Given the description of an element on the screen output the (x, y) to click on. 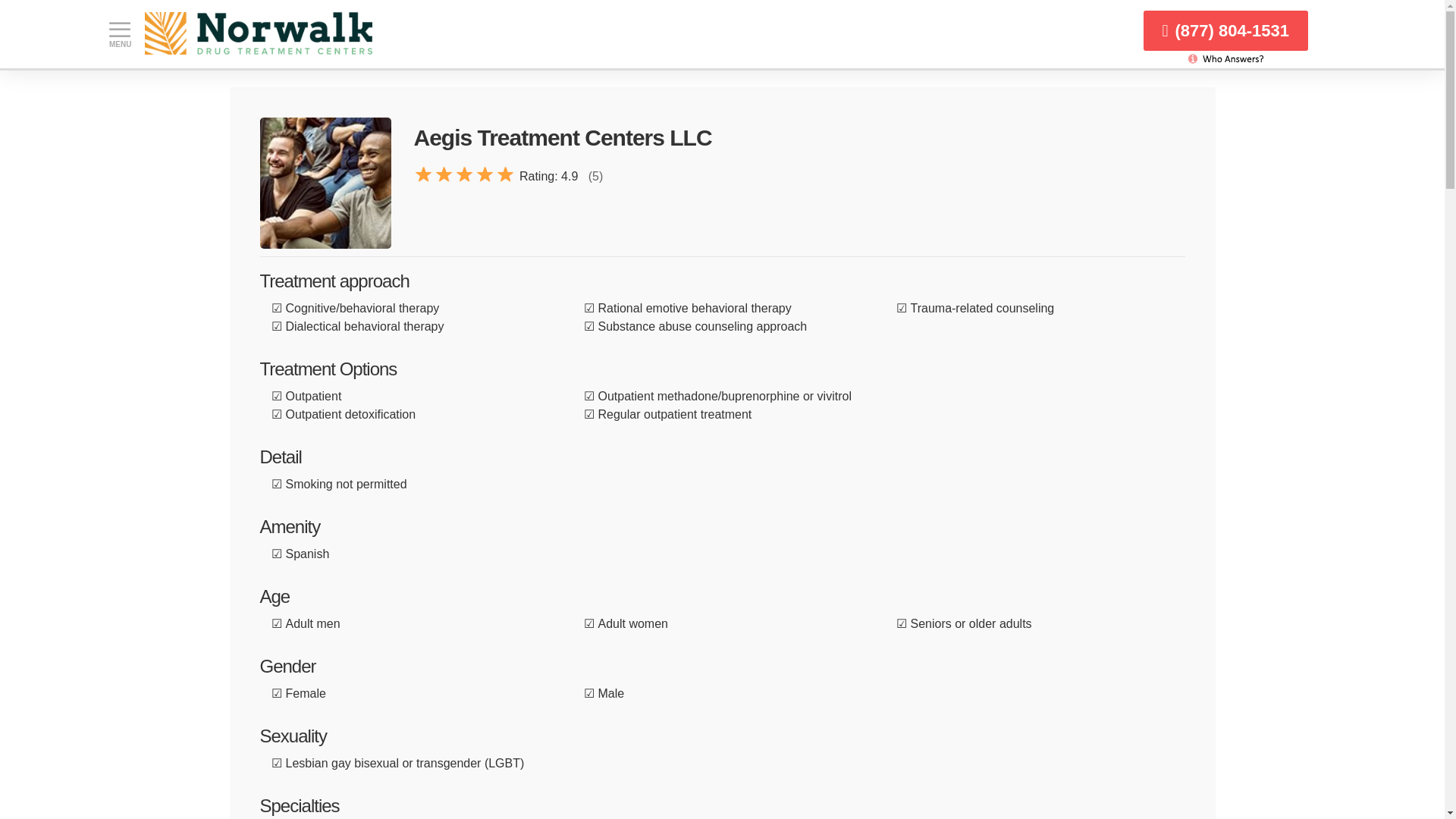
Aegis Treatment Centers LLC (324, 182)
